Given the description of an element on the screen output the (x, y) to click on. 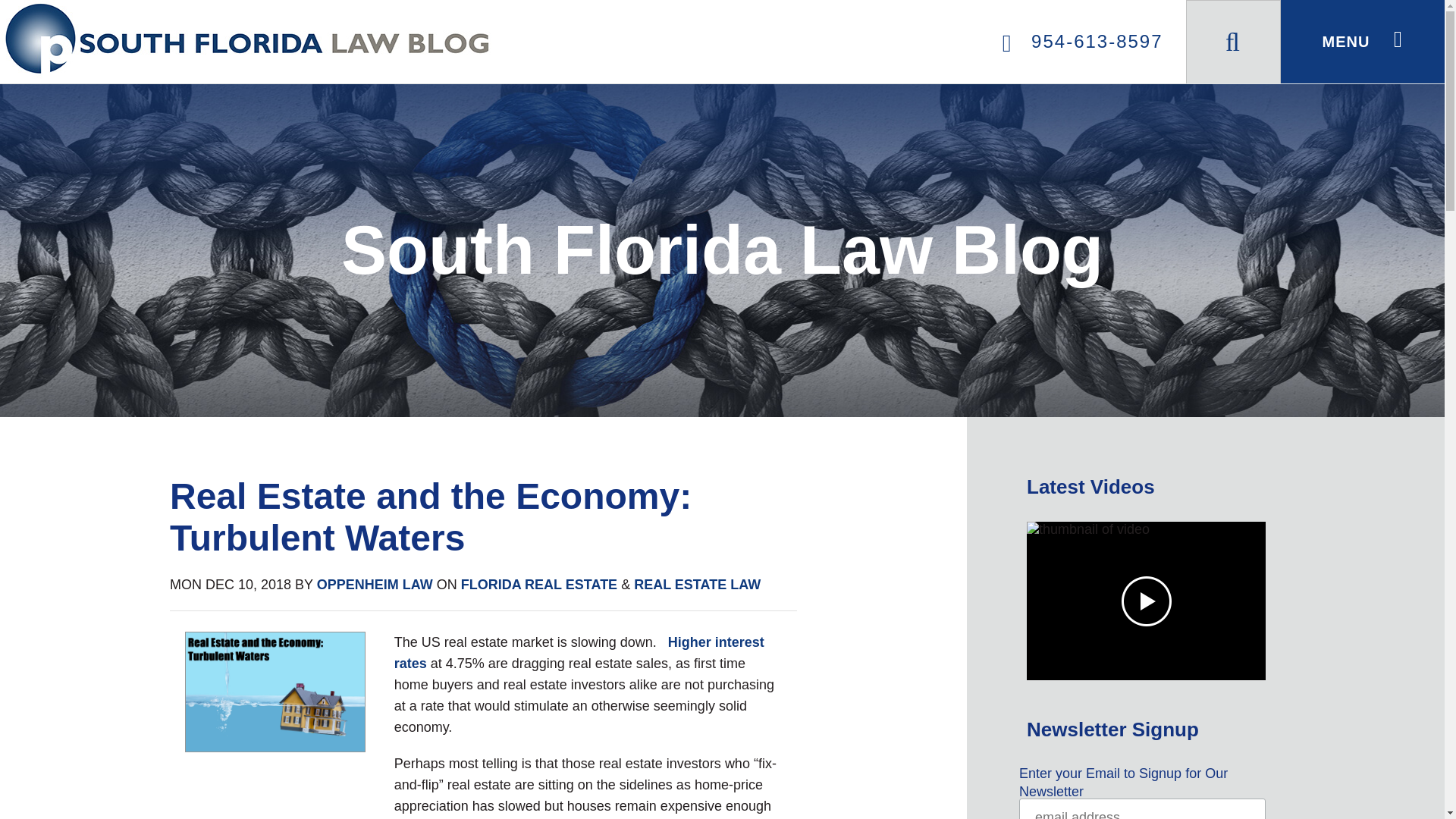
OPPENHEIM LAW (374, 584)
Posts by Oppenheim Law (374, 584)
954-613-8597 (1088, 41)
REAL ESTATE LAW (696, 584)
Latest Videos (1145, 486)
FLORIDA REAL ESTATE (539, 584)
Higher interest rates (579, 652)
